Given the description of an element on the screen output the (x, y) to click on. 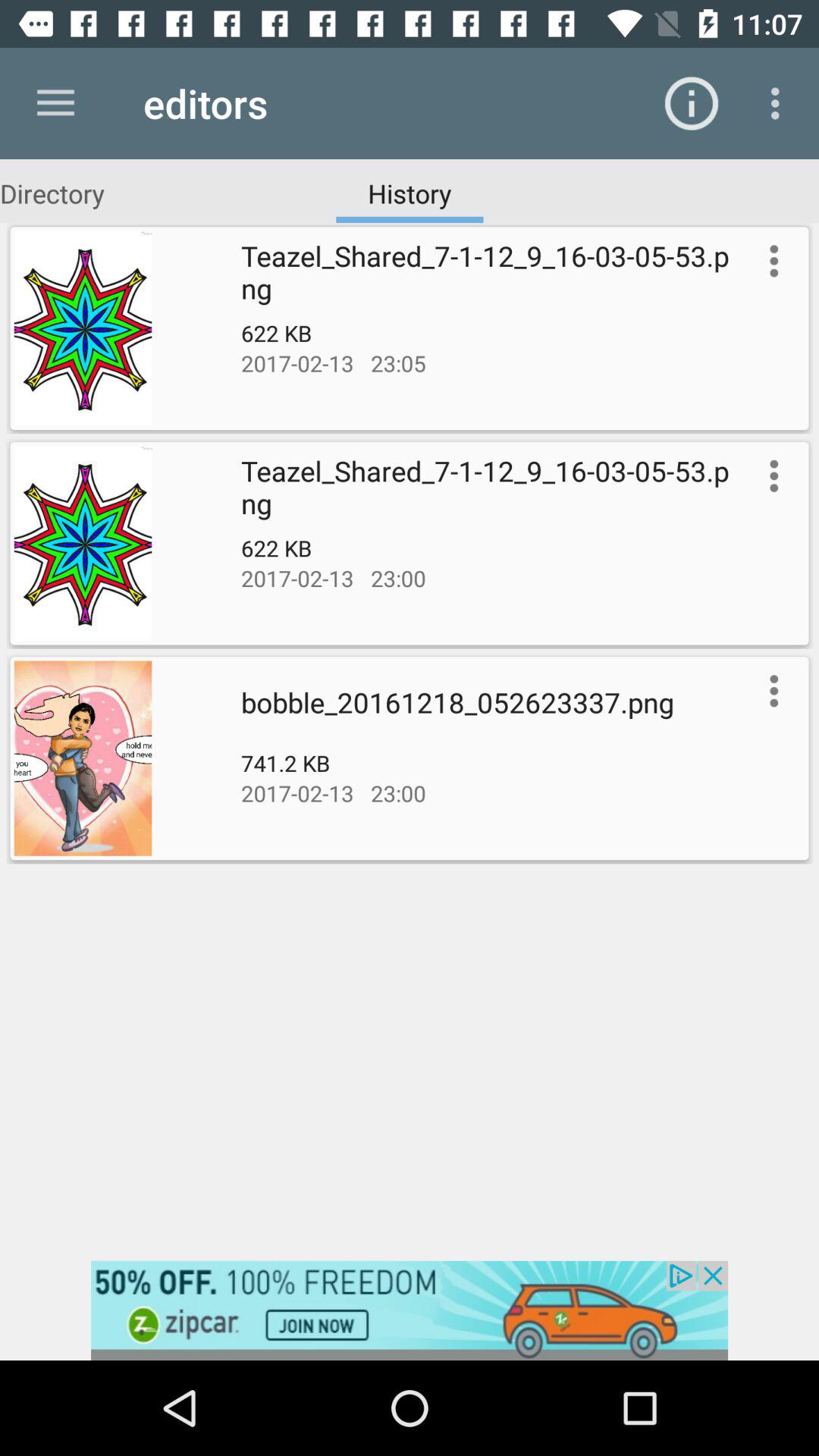
view picture options (770, 690)
